Given the description of an element on the screen output the (x, y) to click on. 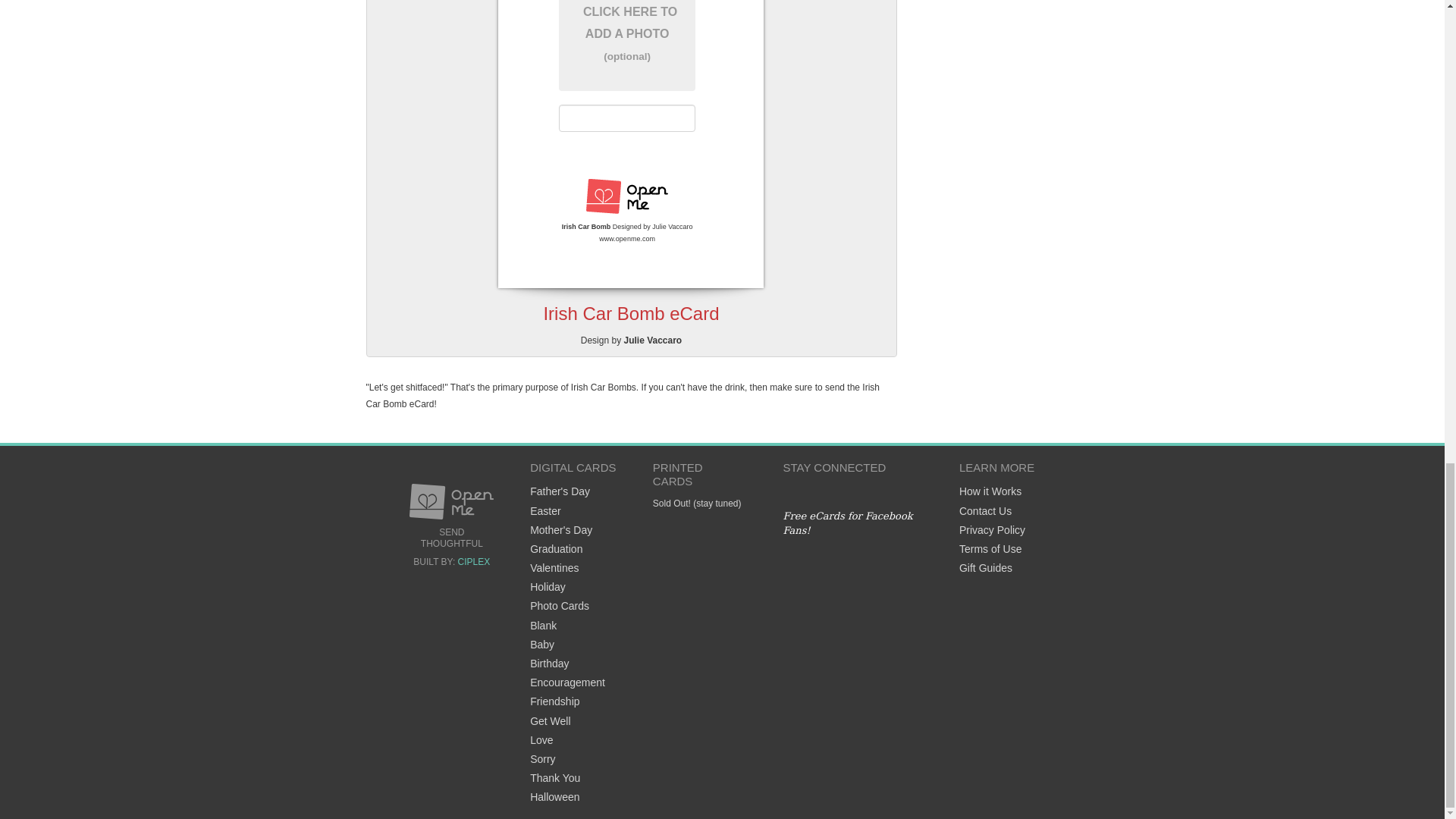
Follow on Facebook (879, 490)
Follow on Google (849, 490)
Follow on Pinterest (789, 490)
Follow on Tumblr (909, 490)
Follow on Twitter (820, 490)
